Given the description of an element on the screen output the (x, y) to click on. 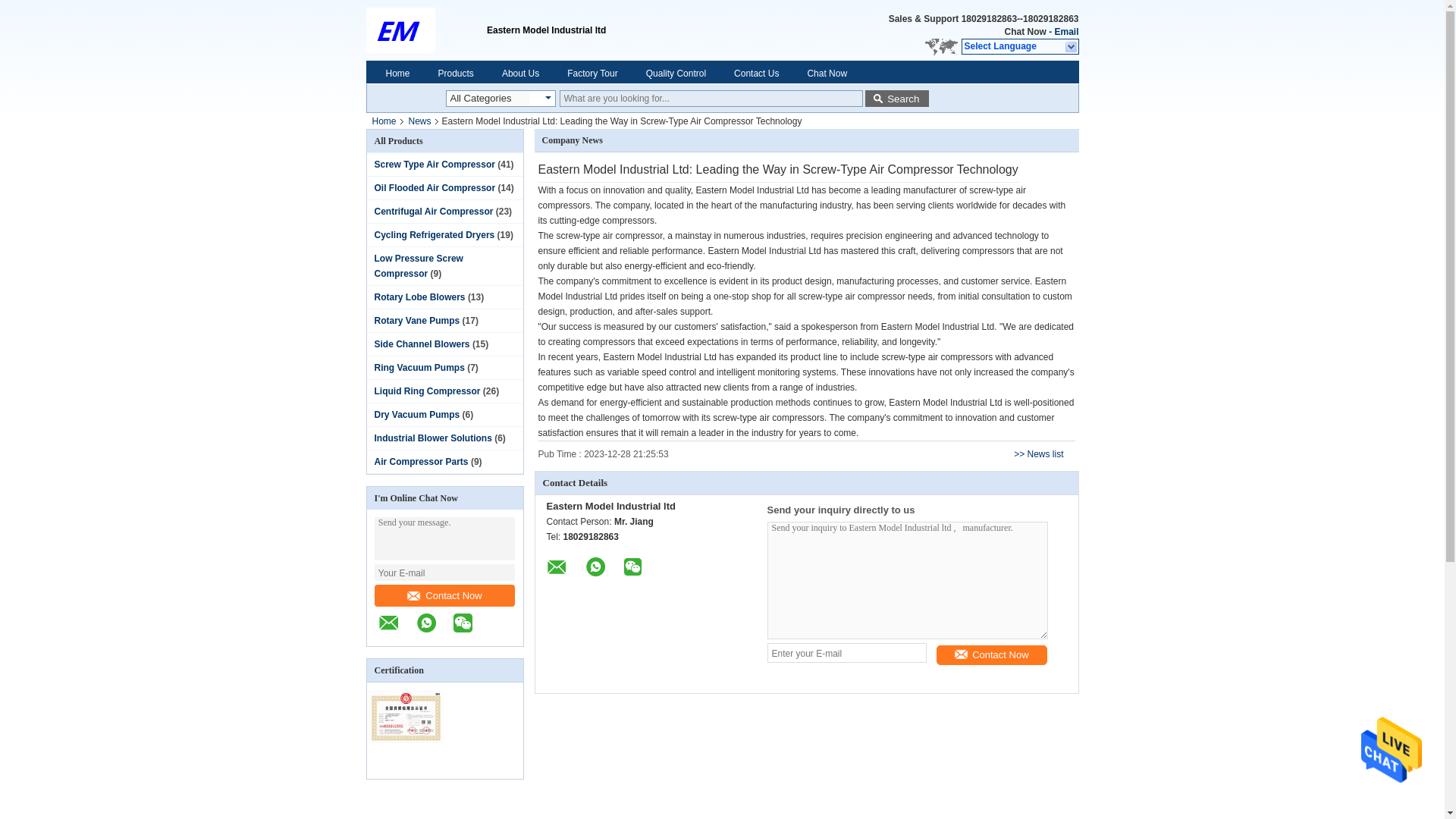
Chat Now (1024, 31)
Quality Control (675, 73)
Search (896, 98)
Factory Tour (592, 73)
Centrifugal Air Compressor (433, 211)
News (420, 120)
Home (383, 120)
Eastern Model Industrial ltd (425, 30)
Contact Us (756, 73)
Rotary Lobe Blowers (419, 296)
Oil Flooded Air Compressor (435, 187)
Low Pressure Screw Compressor (418, 266)
Cycling Refrigerated Dryers (434, 235)
Screw Type Air Compressor (434, 163)
Quote (1024, 31)
